Given the description of an element on the screen output the (x, y) to click on. 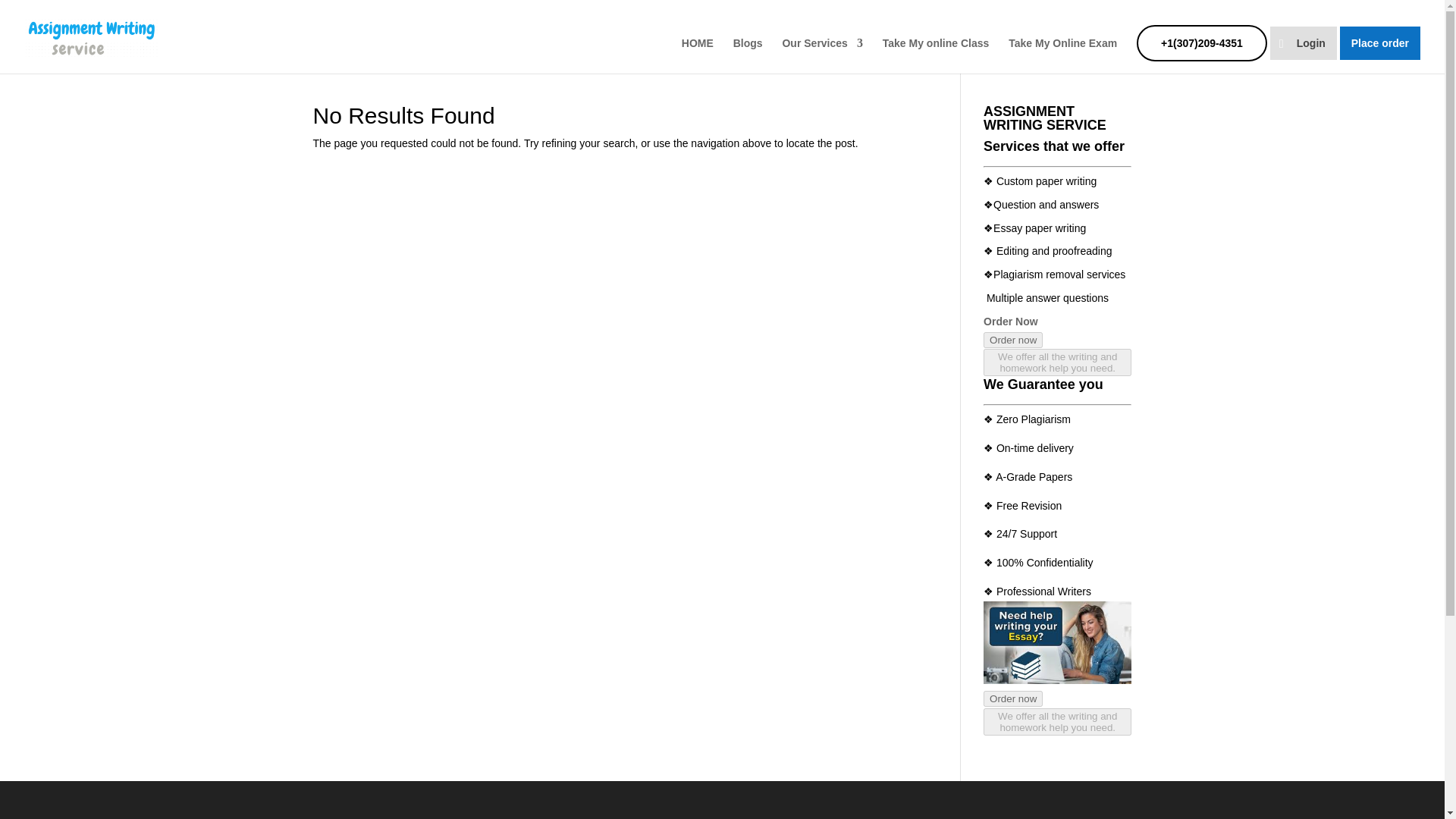
Order now (1013, 698)
Order now (1013, 698)
Order now (1013, 339)
Login (1302, 42)
Our Services (821, 55)
Take My Online Exam (1062, 55)
Place order (1380, 42)
Order now (1013, 340)
We offer all the writing and homework help you need. (1057, 367)
Order Now (1011, 321)
Take My online Class (936, 55)
HOME (697, 55)
We offer all the writing and homework help you need. (1057, 361)
We offer all the writing and homework help you need. (1057, 721)
We offer all the writing and homework help you need. (1057, 727)
